Given the description of an element on the screen output the (x, y) to click on. 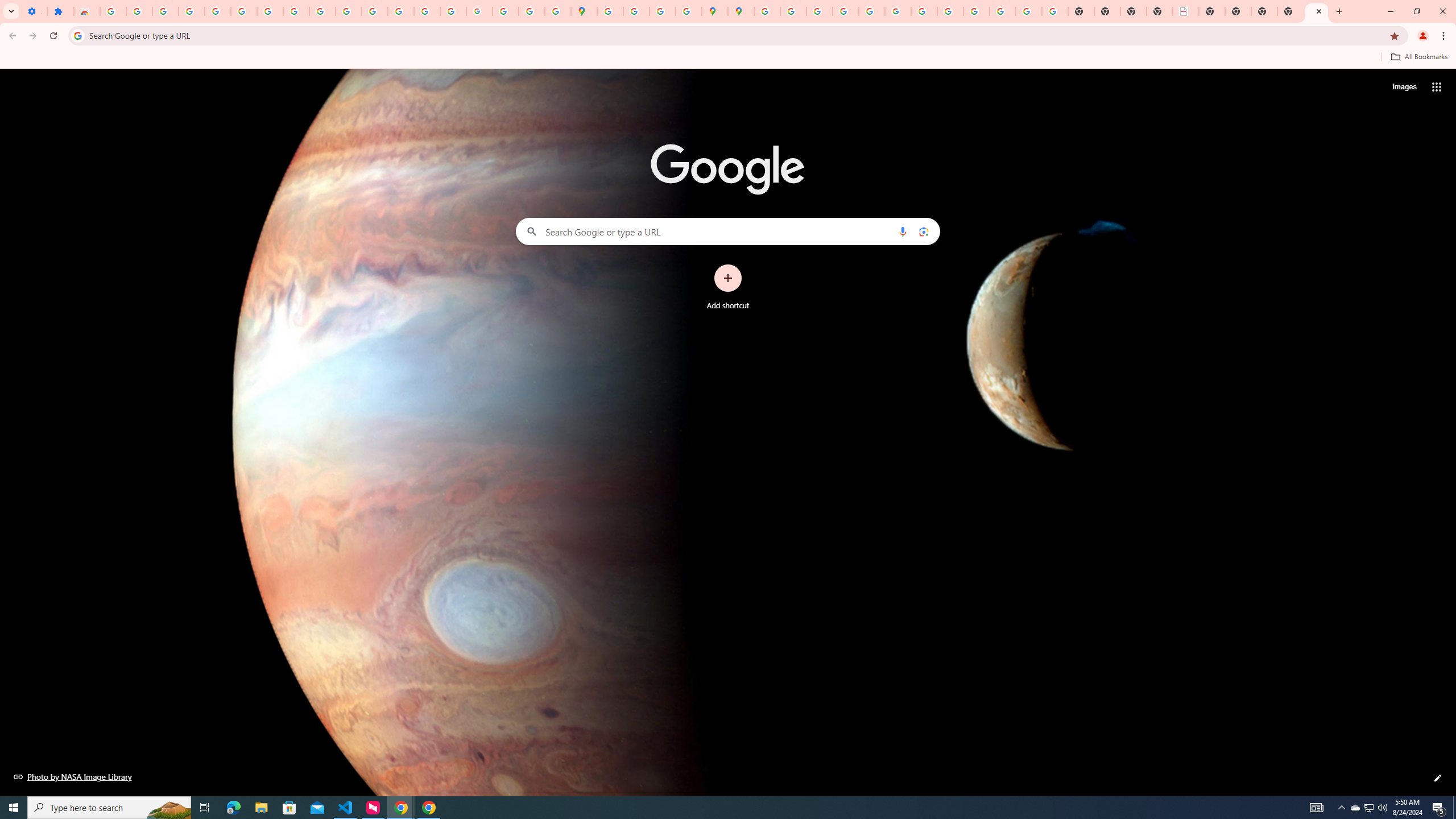
Search by image (922, 230)
All Bookmarks (1418, 56)
Search Google or type a URL (727, 230)
Sign in - Google Accounts (243, 11)
Privacy Help Center - Policies Help (845, 11)
Search by voice (902, 230)
Search icon (77, 35)
Search for Images  (1403, 87)
Reviews: Helix Fruit Jump Arcade Game (86, 11)
Learn how to find your photos - Google Photos Help (191, 11)
Photo by NASA Image Library (72, 776)
